Given the description of an element on the screen output the (x, y) to click on. 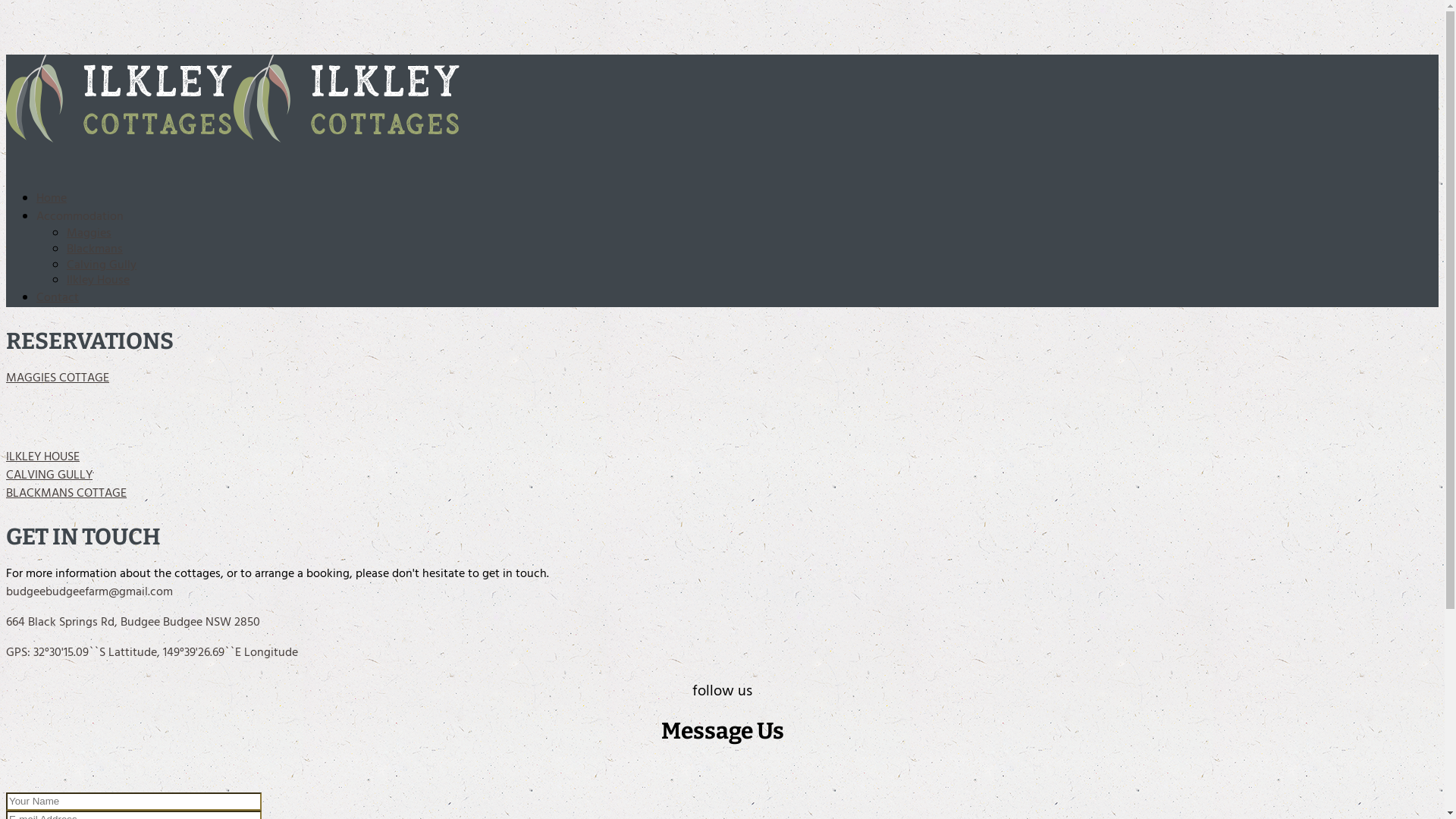
Blackmans Element type: text (94, 249)
Maggies Element type: text (88, 233)
Ilkley House Element type: text (97, 280)
ILKLEY HOUSE Element type: text (42, 457)
BLACKMANS COTTAGE Element type: text (66, 493)
CALVING GULLY Element type: text (49, 475)
Contact Element type: text (57, 297)
Calving Gully Element type: text (101, 265)
Home Element type: text (51, 198)
Accommodation Element type: text (79, 216)
MAGGIES COTTAGE Element type: text (57, 378)
